Given the description of an element on the screen output the (x, y) to click on. 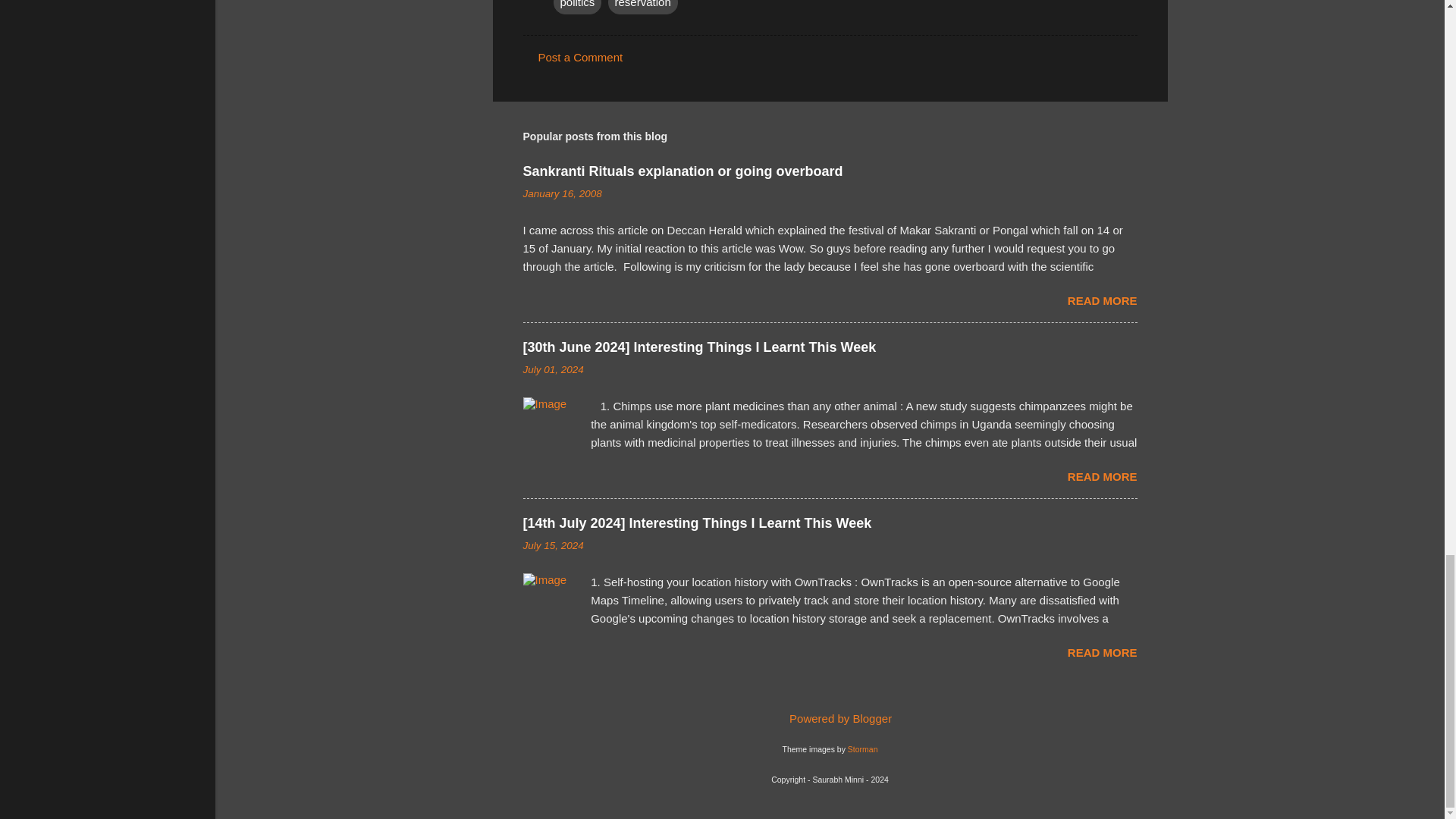
politics (577, 6)
January 16, 2008 (562, 193)
Sankranti Rituals explanation or going overboard (682, 171)
reservation (643, 6)
Storman (862, 748)
READ MORE (1102, 476)
July 15, 2024 (552, 545)
Post a Comment (580, 56)
July 01, 2024 (552, 369)
READ MORE (1102, 300)
Powered by Blogger (829, 717)
permanent link (562, 193)
READ MORE (1102, 652)
